Given the description of an element on the screen output the (x, y) to click on. 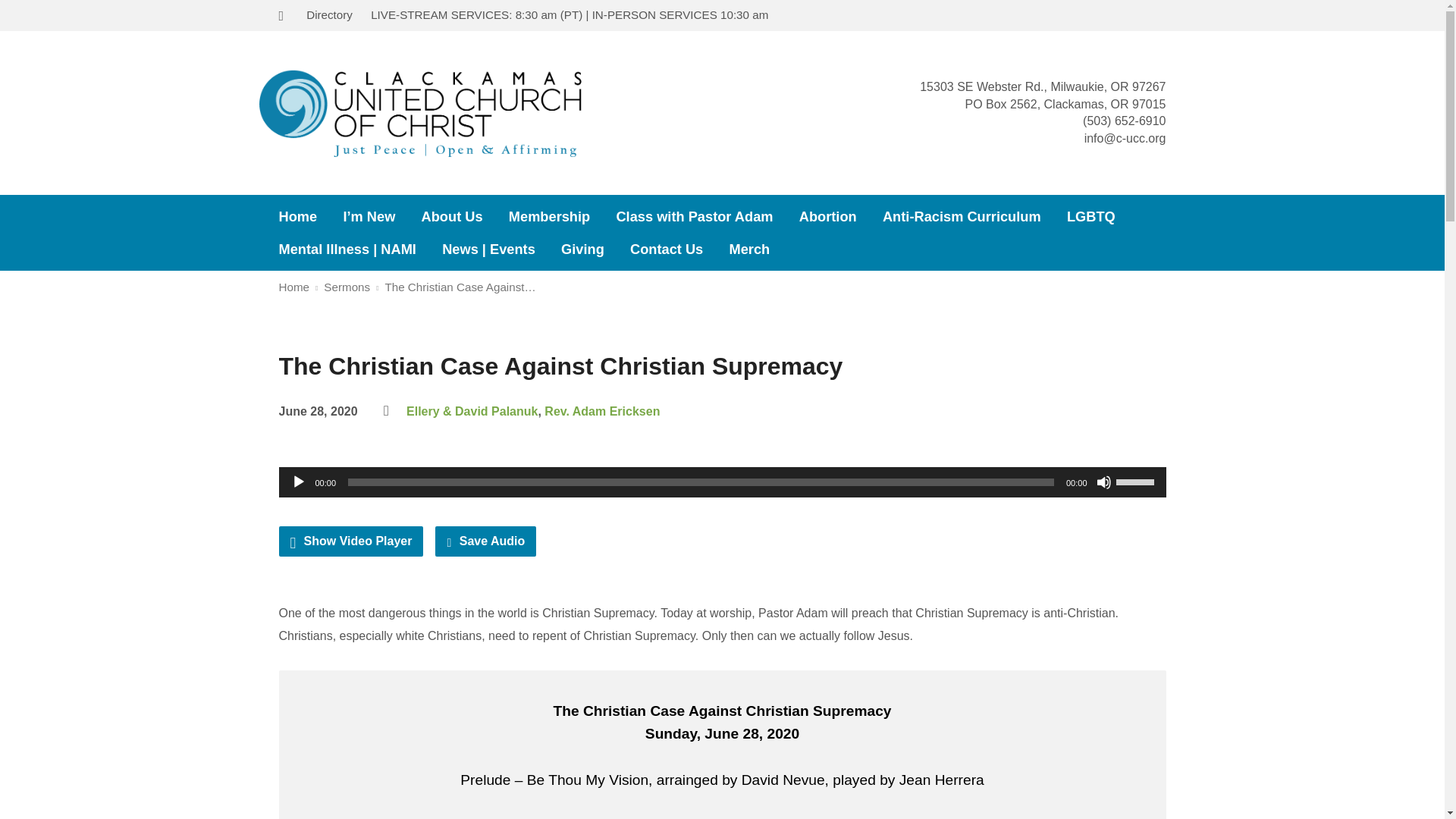
Merch (749, 249)
Directory (328, 14)
Class with Pastor Adam (694, 216)
Abortion (828, 216)
Home (298, 216)
Membership (548, 216)
LGBTQ (1091, 216)
Download Audio (485, 541)
Mute (1104, 482)
Giving (582, 249)
